Given the description of an element on the screen output the (x, y) to click on. 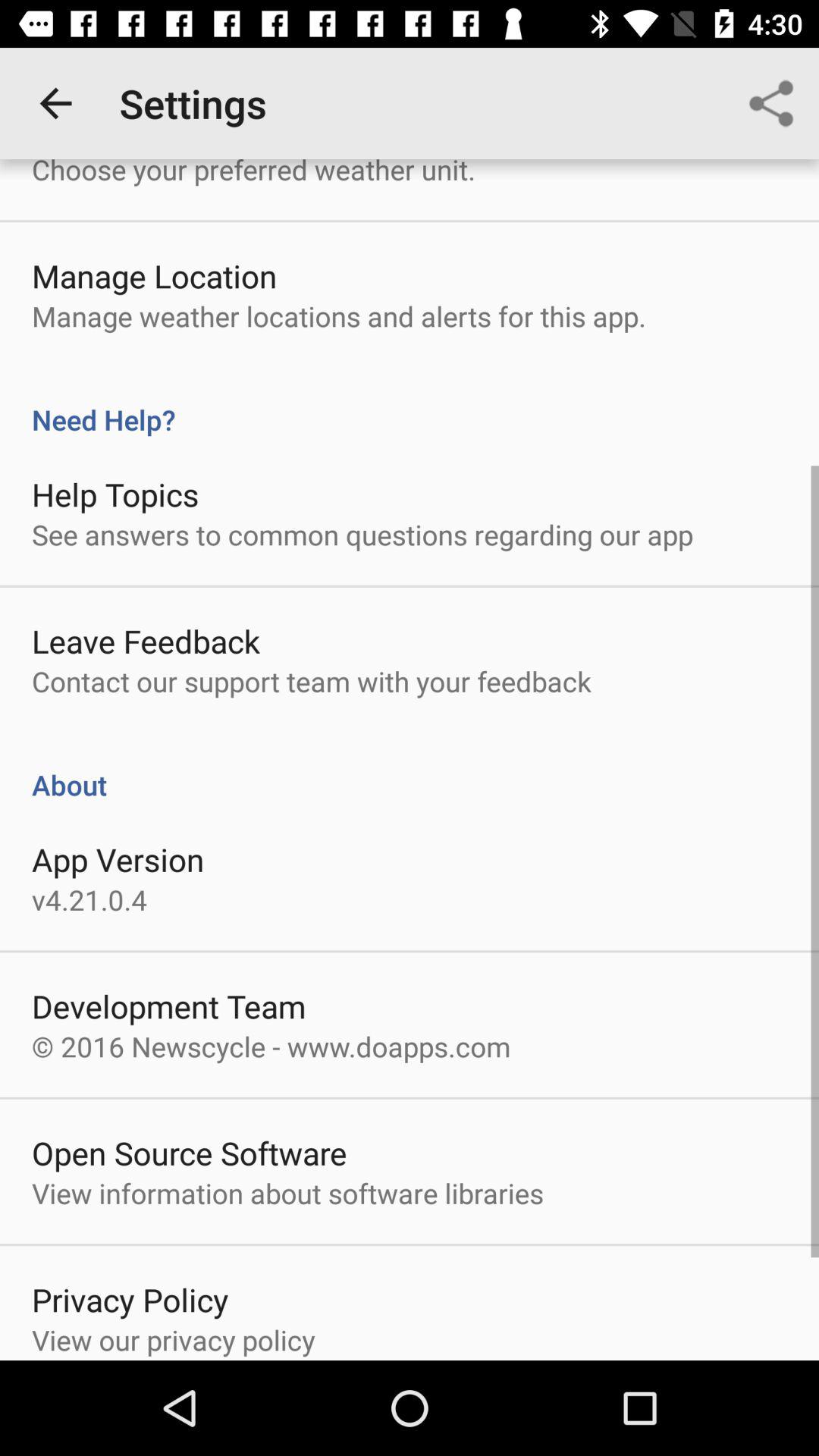
press item below the development team (270, 1046)
